Given the description of an element on the screen output the (x, y) to click on. 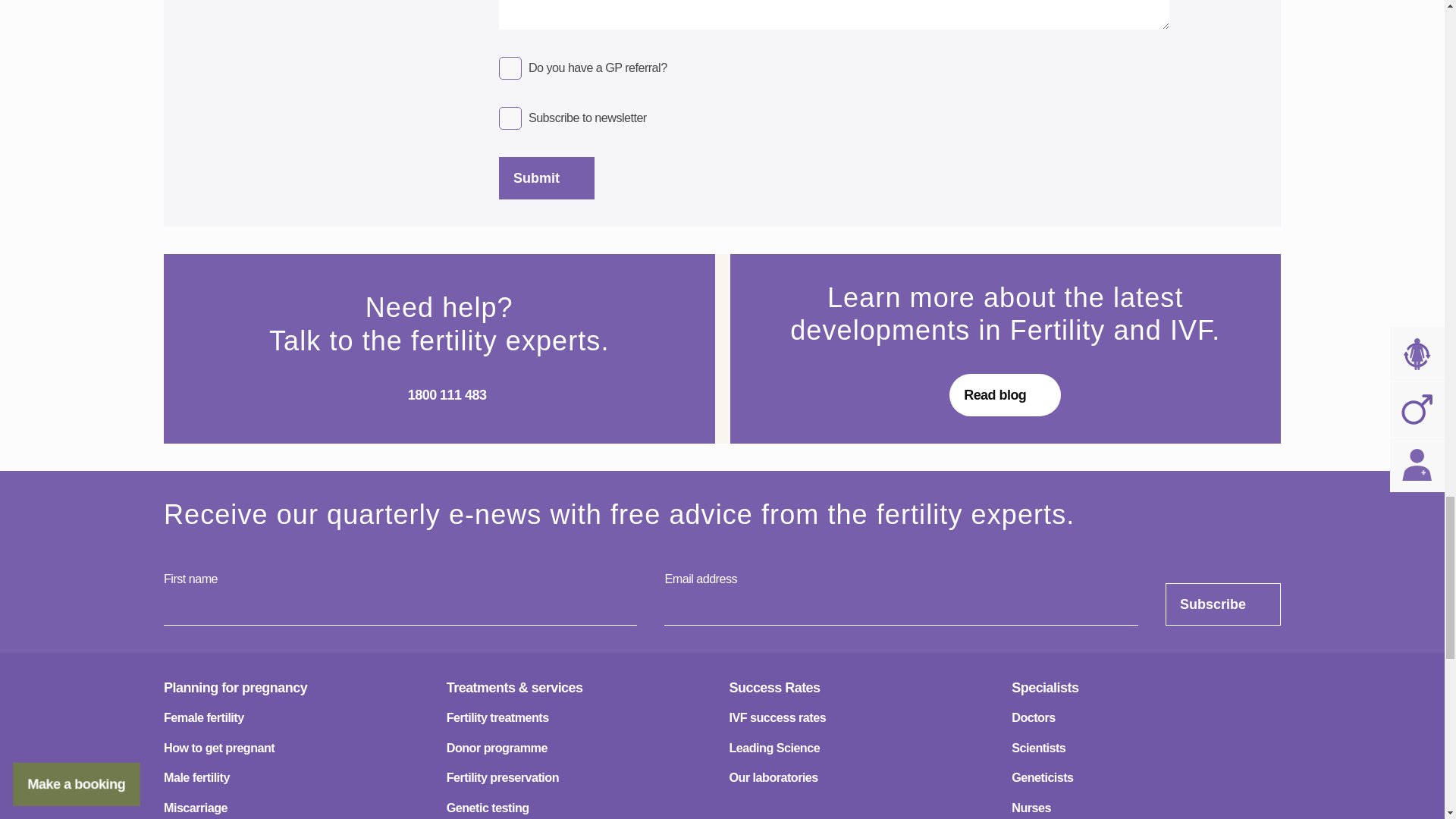
1 (510, 118)
1 (510, 67)
